Given the description of an element on the screen output the (x, y) to click on. 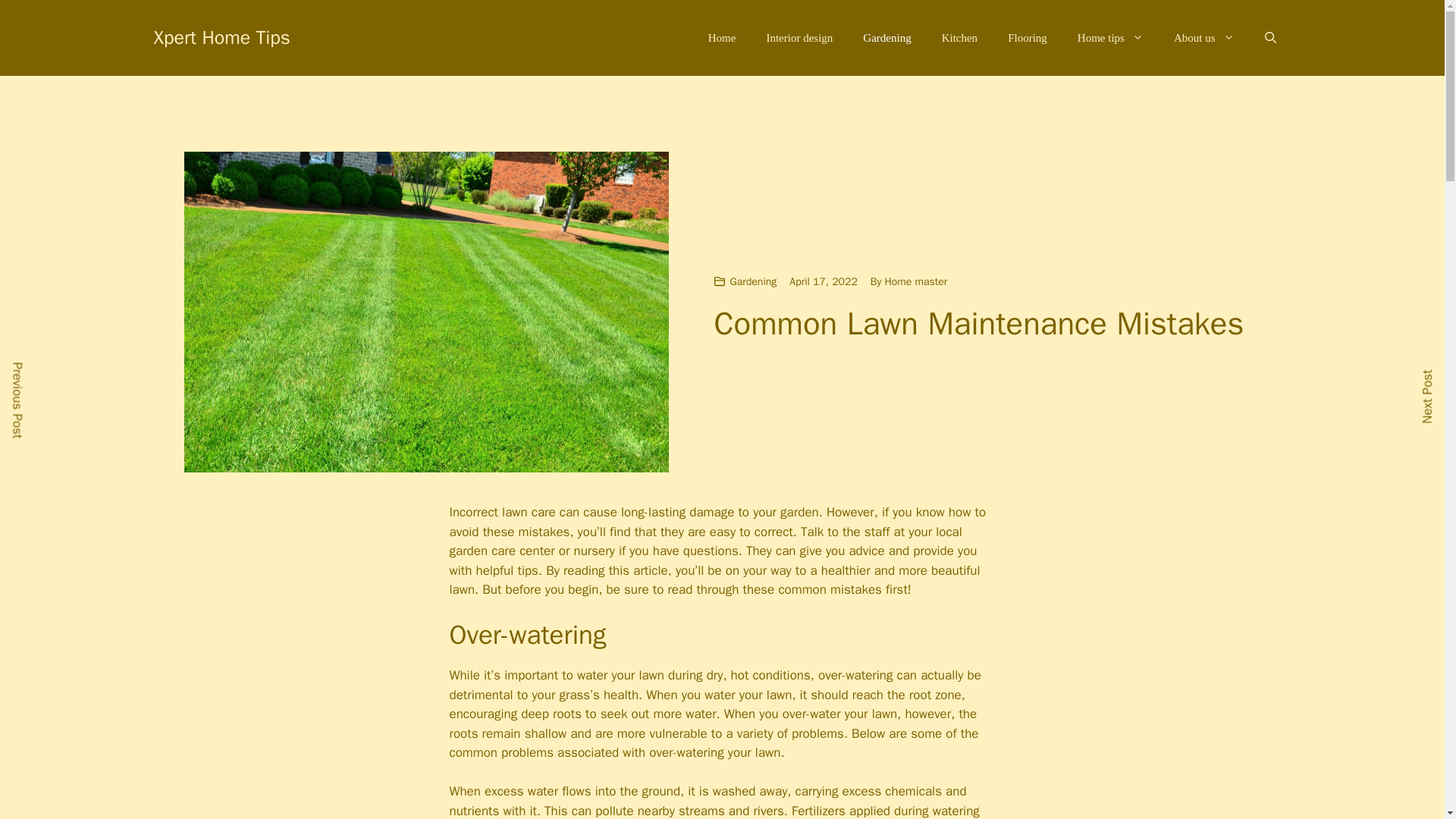
Home master (916, 281)
Kitchen (959, 37)
Interior design (799, 37)
Xpert Home Tips (220, 37)
Gardening (752, 281)
Home (722, 37)
Home tips (1110, 37)
Gardening (886, 37)
About us (1203, 37)
Previous Post (38, 379)
Flooring (1027, 37)
